Given the description of an element on the screen output the (x, y) to click on. 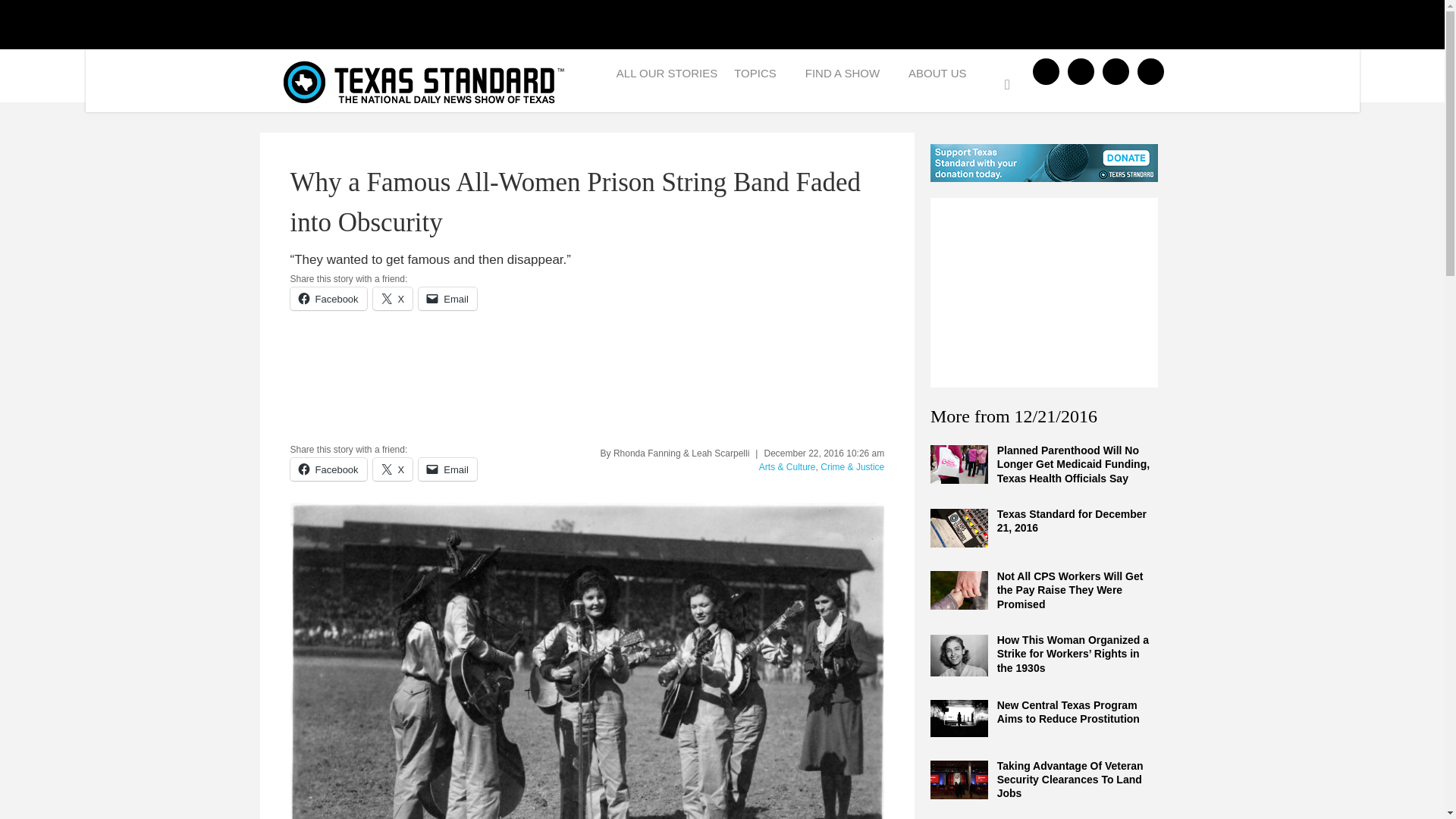
ALL OUR STORIES (666, 77)
Click to share on Facebook (327, 468)
Click to share on X (392, 468)
Click to email a link to a friend (448, 468)
Click to share on Facebook (327, 298)
Click to share on X (392, 298)
TOPICS (761, 77)
Click to email a link to a friend (448, 298)
